Given the description of an element on the screen output the (x, y) to click on. 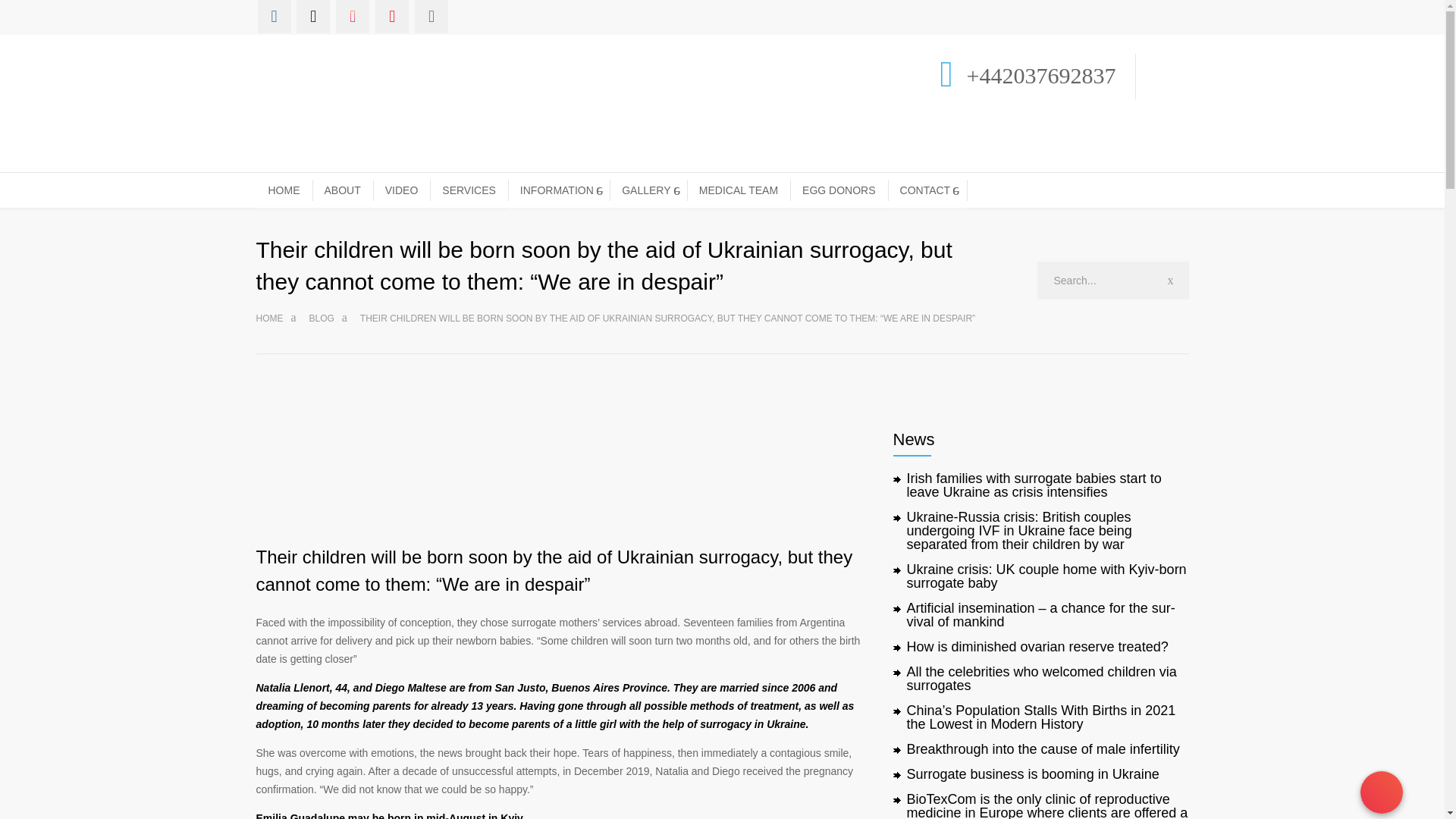
GALLERY (648, 190)
VIDEO (401, 189)
Search... (1112, 280)
SERVICES (468, 189)
HOME (284, 189)
Search... (1112, 280)
INFORMATION (559, 190)
ABOUT (343, 189)
